Given the description of an element on the screen output the (x, y) to click on. 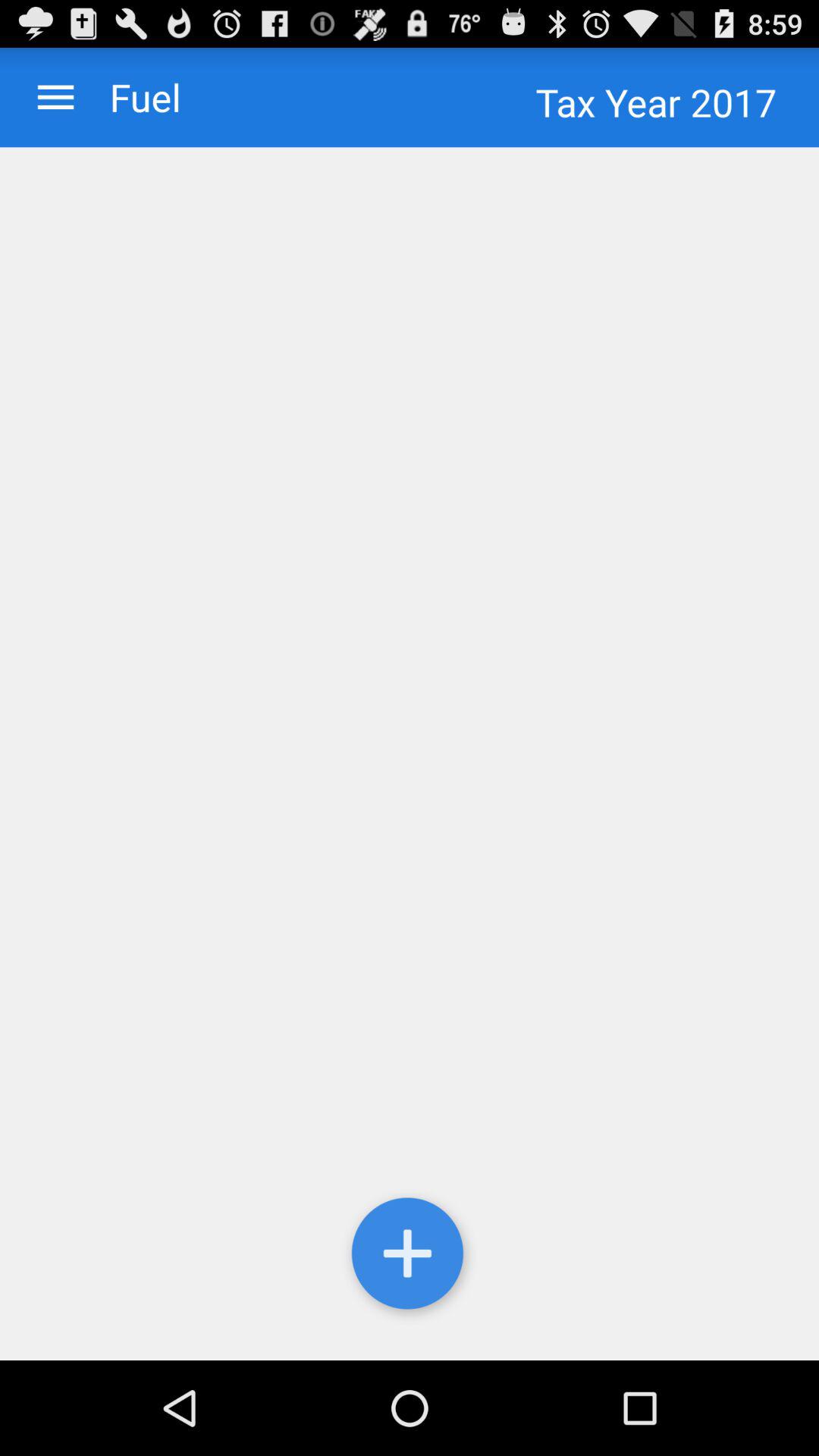
choose the checkbox to the left of tax year 2017 checkbox (129, 96)
